Given the description of an element on the screen output the (x, y) to click on. 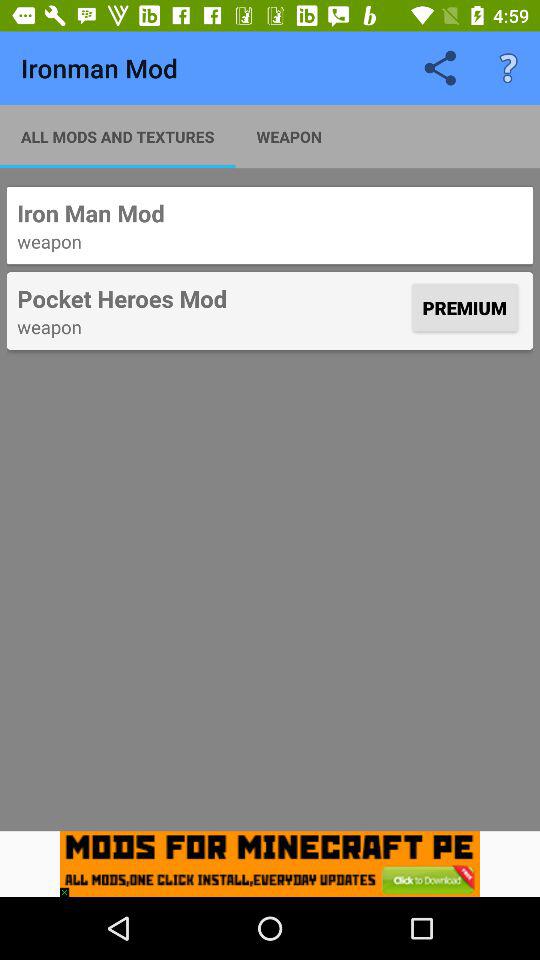
select item below weapon icon (211, 298)
